Given the description of an element on the screen output the (x, y) to click on. 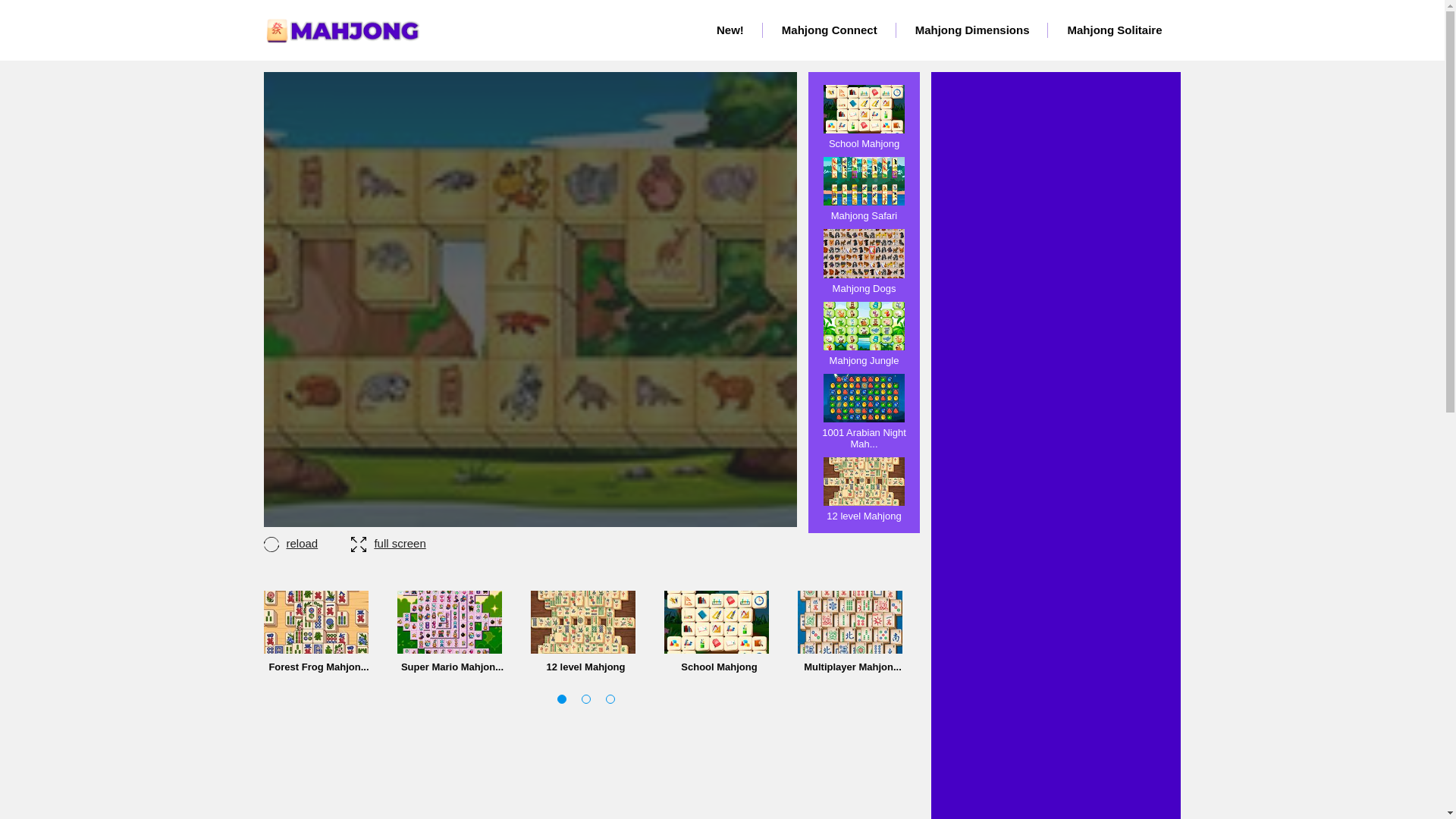
School Mahjong (718, 631)
School Mahjong (864, 117)
1001 Arabian Night Mahjong (864, 411)
Forest Frog Mahjon... (318, 631)
Mahjong Dogs (864, 261)
reload (306, 543)
Mahjong Solitaire (1114, 29)
Super Mario Mahjon... (452, 631)
Multiplayer Mahjong (852, 631)
Mahjong Dimensions (972, 29)
12 level Mahjong (864, 489)
Forest Frog Mahjong (318, 631)
School Mahjong (718, 631)
School Mahjong (864, 117)
Forest Frog Mahjong (316, 621)
